Given the description of an element on the screen output the (x, y) to click on. 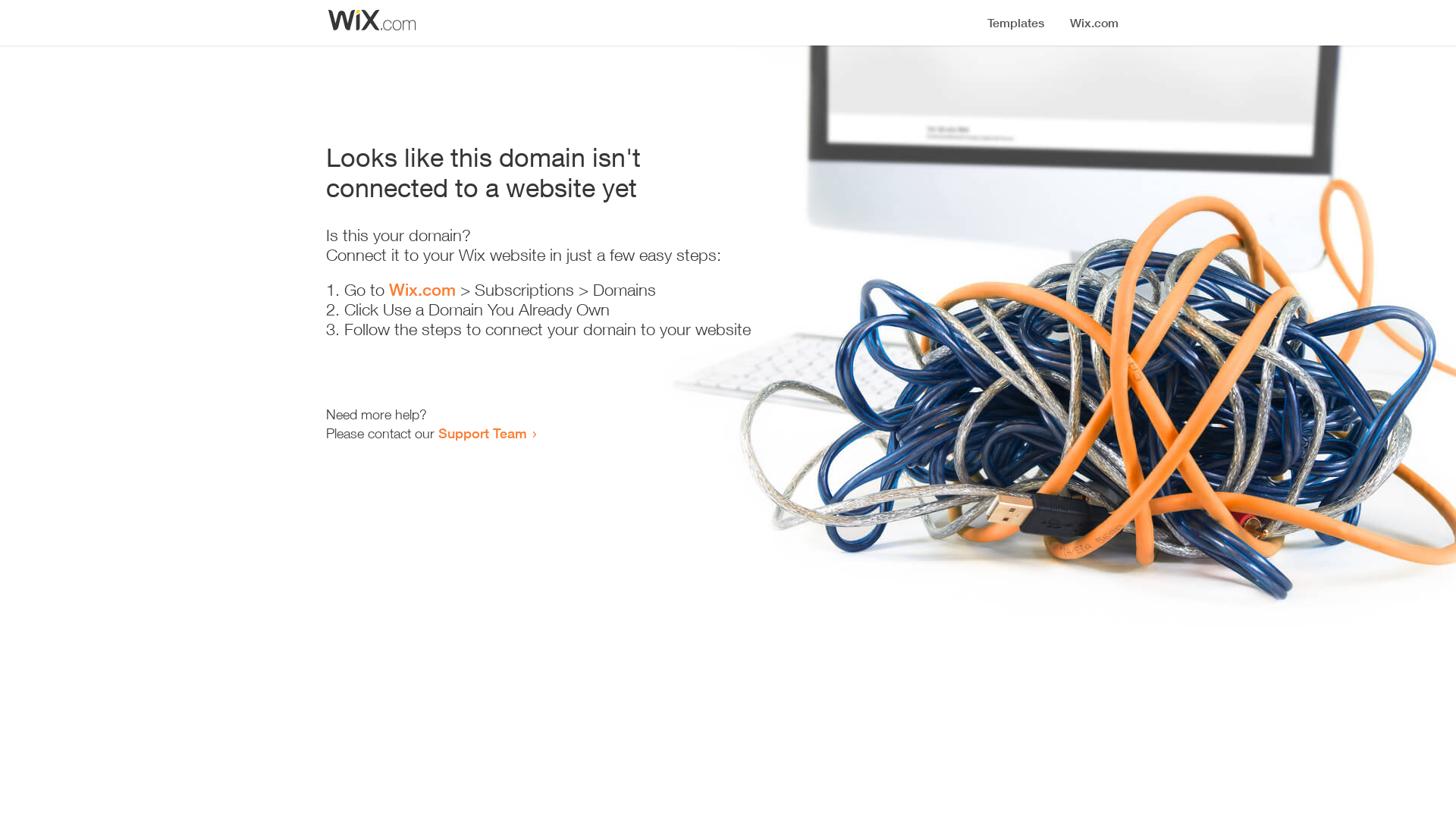
Support Team Element type: text (482, 432)
Wix.com Element type: text (422, 289)
